Given the description of an element on the screen output the (x, y) to click on. 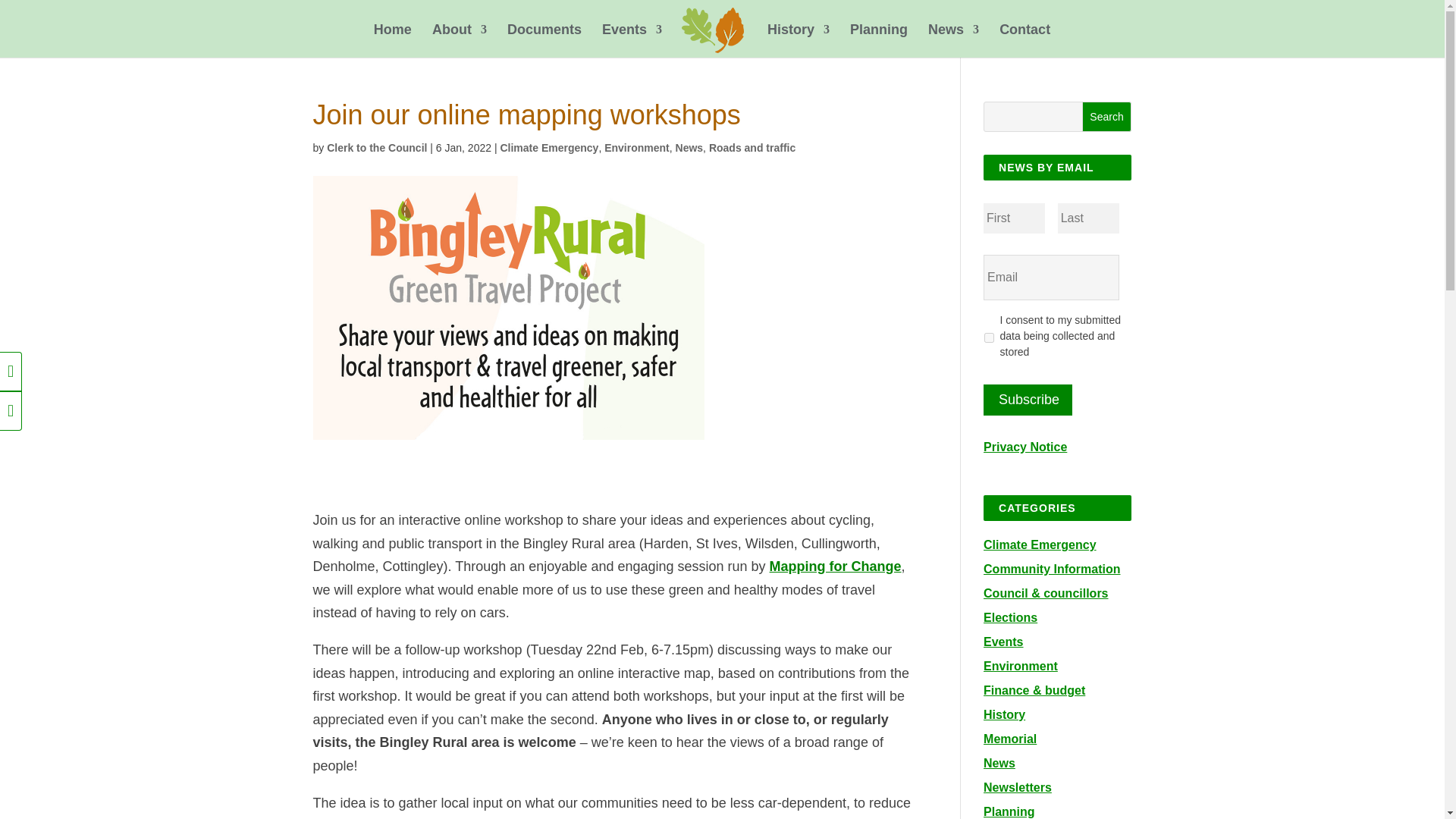
Planning (878, 40)
Events (632, 40)
About (459, 40)
History (798, 40)
Subscribe (1027, 399)
I consent to my submitted data being collected and stored (989, 337)
Search (1106, 116)
Contact (1023, 40)
News (953, 40)
Documents (543, 40)
Home (393, 40)
